Given the description of an element on the screen output the (x, y) to click on. 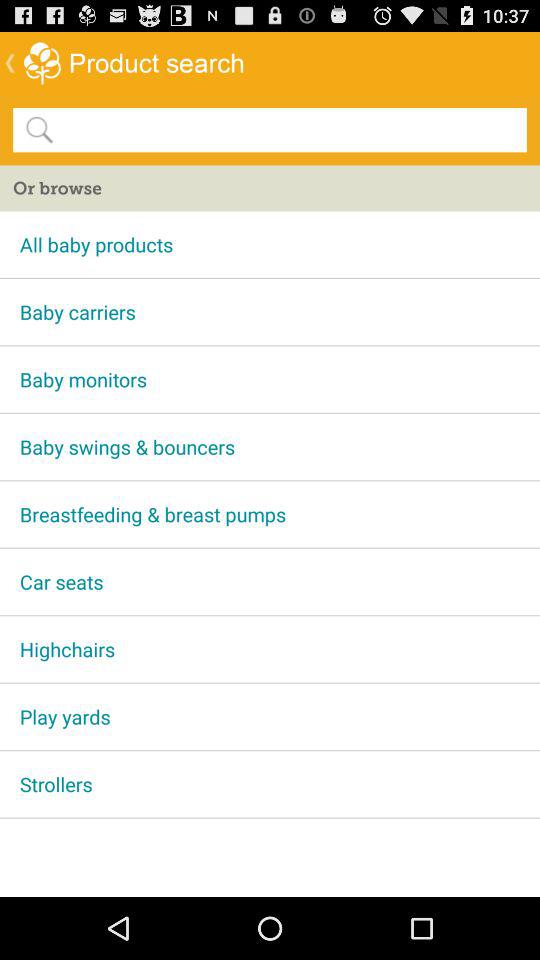
click icon below baby swings & bouncers (270, 514)
